Given the description of an element on the screen output the (x, y) to click on. 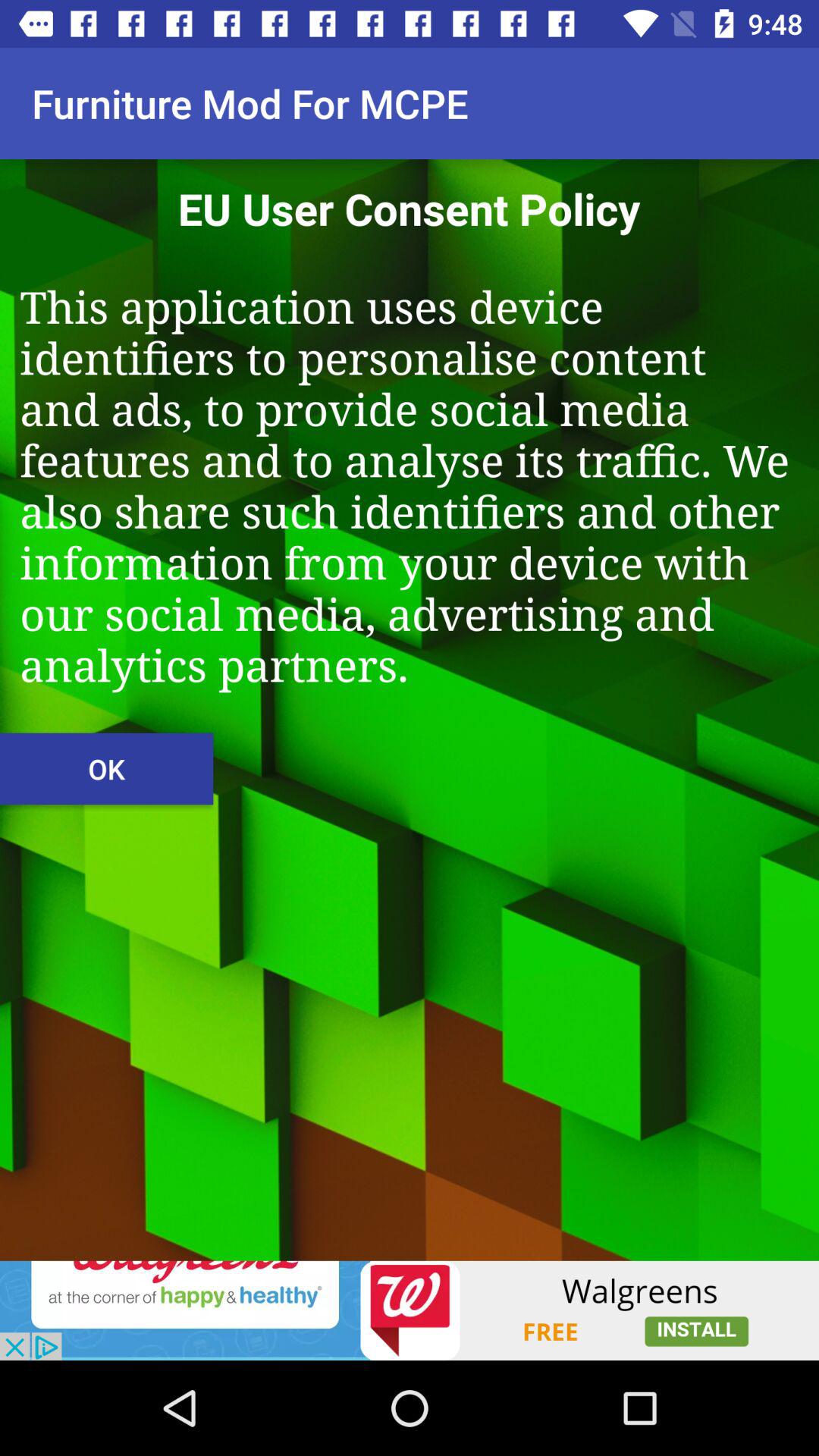
advertisement option (409, 1310)
